Given the description of an element on the screen output the (x, y) to click on. 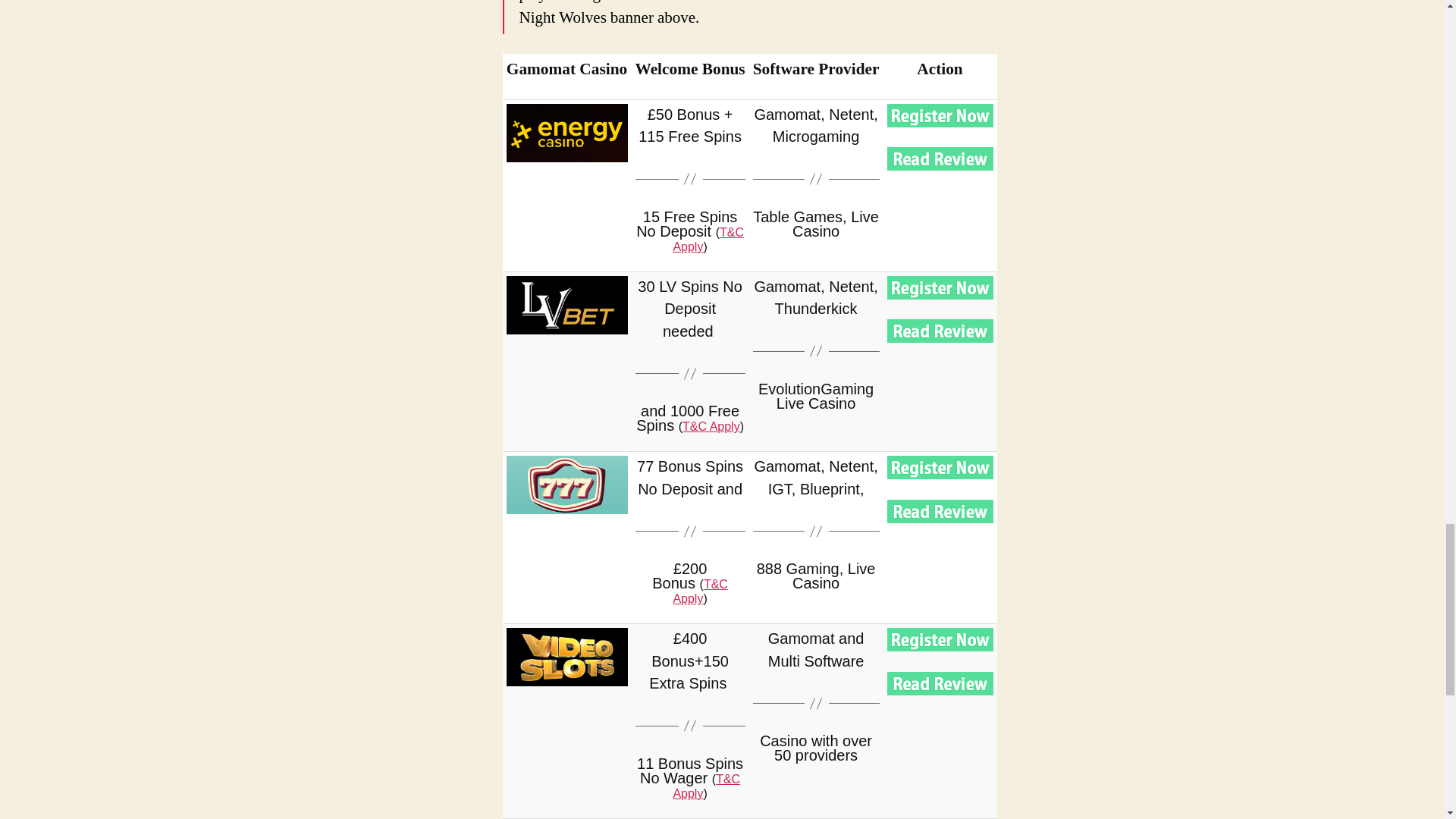
LVbet Casino Review (939, 331)
Go to Energy Casino (939, 115)
Go to Videoslots Casino (566, 657)
Go to Energy Casino (566, 133)
Go to Videoslots Casino (939, 639)
Go to LVbet Casino (566, 305)
Energy Casino Review (939, 158)
Go to LVbet Casino (939, 287)
Go to 777 Casino (566, 484)
Go to 777 Casino (939, 467)
Videoslots Casino Review (939, 683)
777 Casino Review (939, 511)
